Given the description of an element on the screen output the (x, y) to click on. 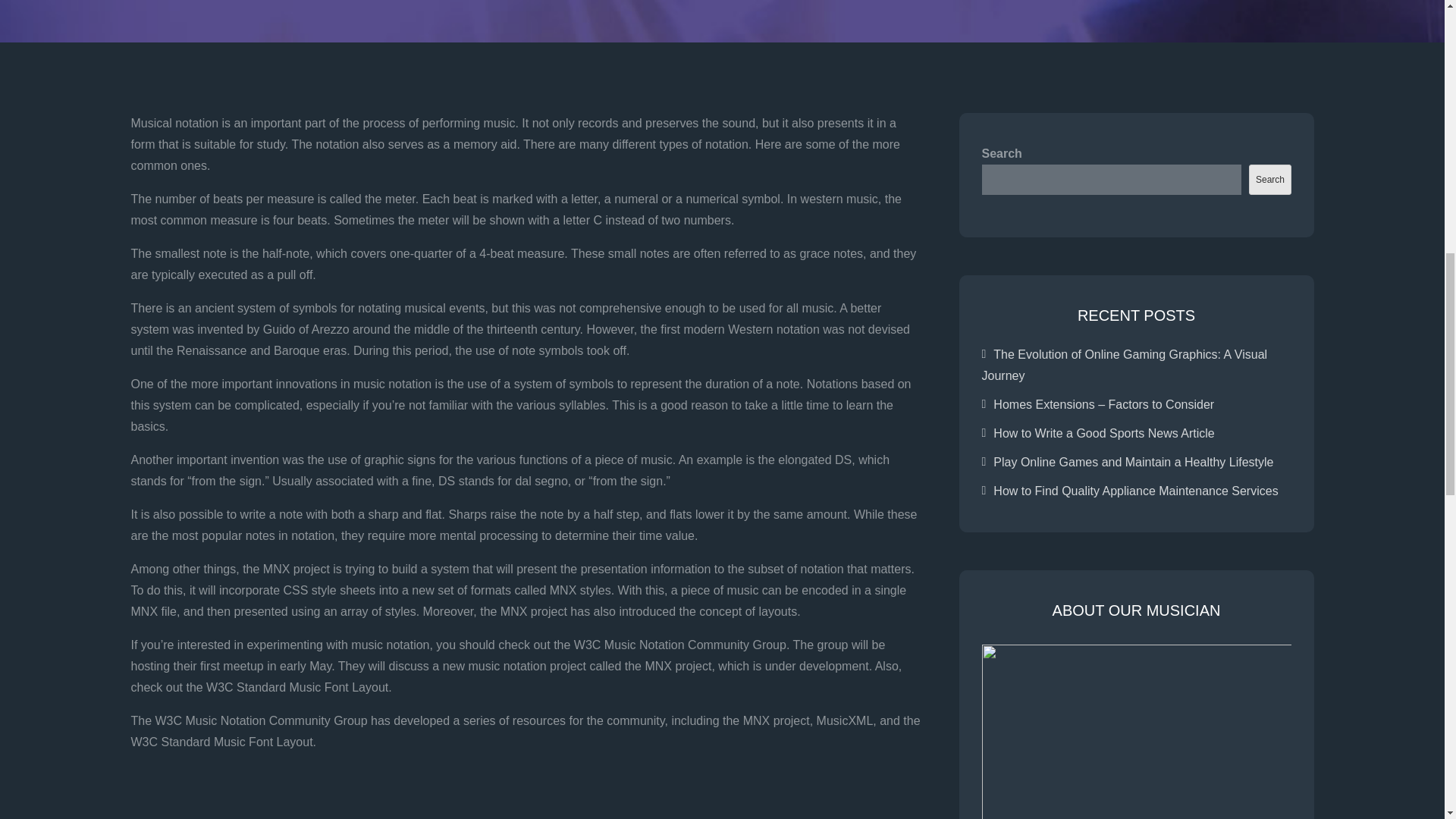
How to Write a Good Sports News Article (1103, 432)
The Evolution of Online Gaming Graphics: A Visual Journey (1123, 365)
How to Find Quality Appliance Maintenance Services (1135, 490)
Play Online Games and Maintain a Healthy Lifestyle (1132, 461)
Search (1269, 179)
